Given the description of an element on the screen output the (x, y) to click on. 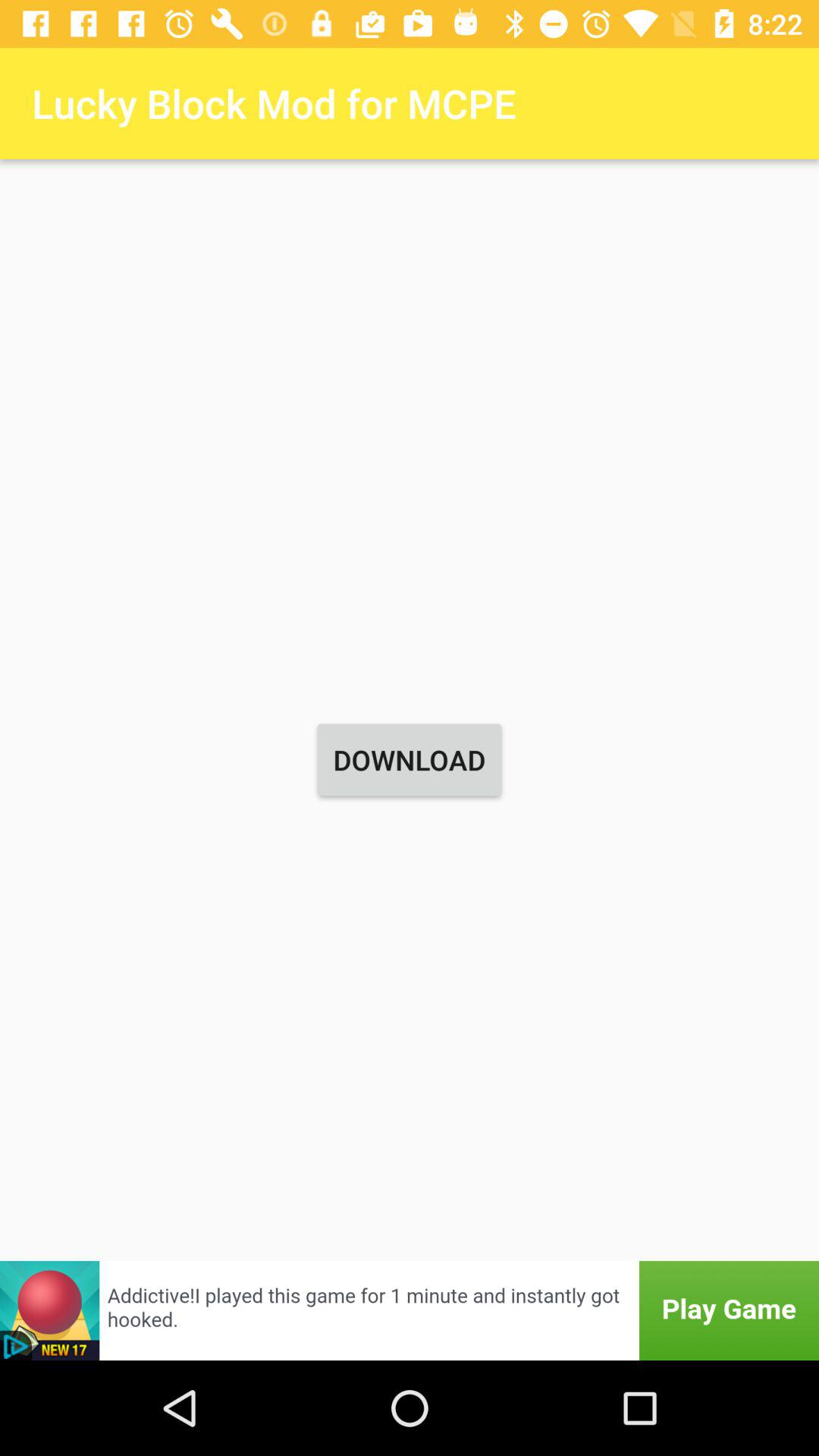
advertisement banner (409, 1310)
